Given the description of an element on the screen output the (x, y) to click on. 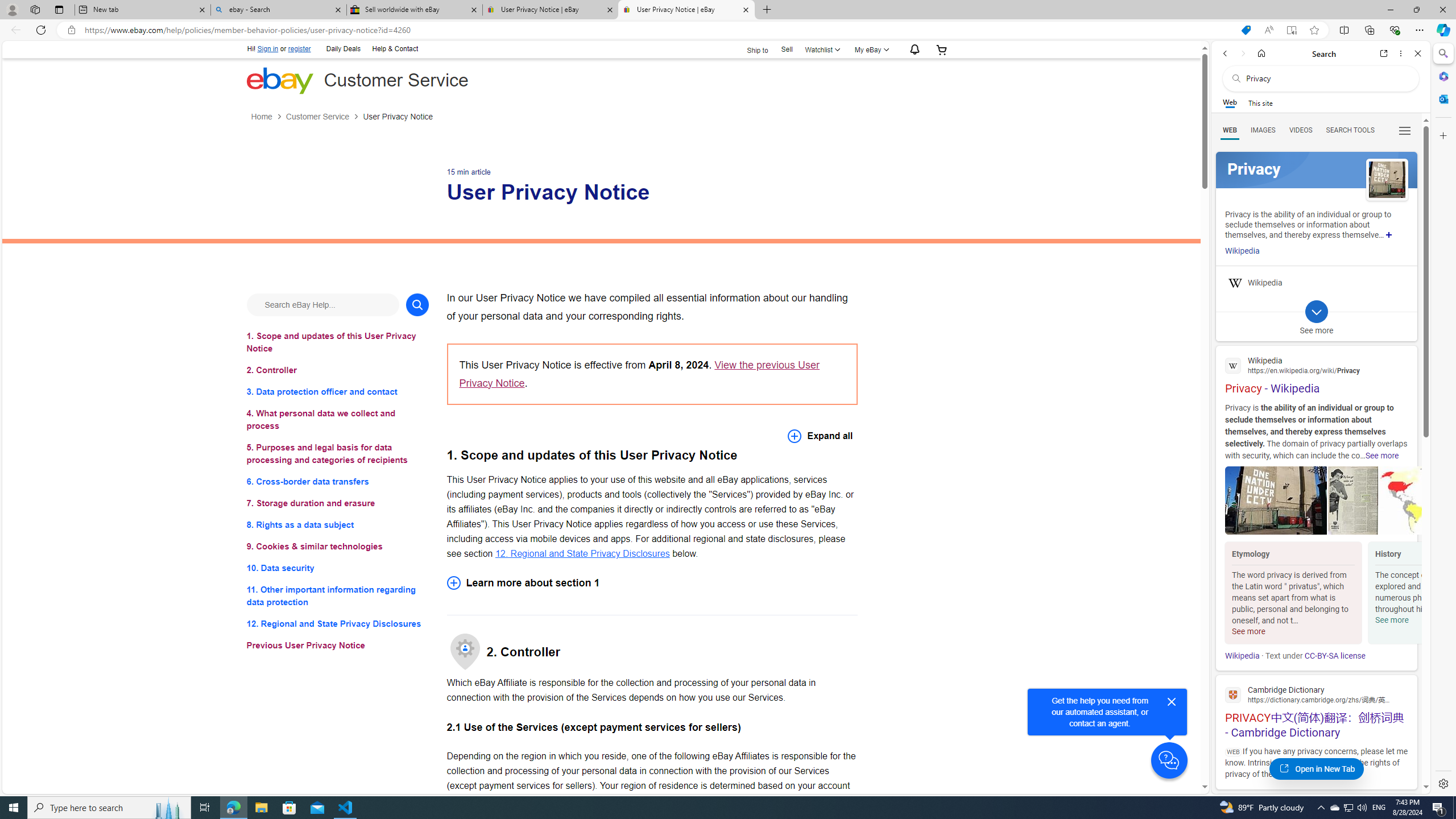
12. Regional and State Privacy Disclosures (337, 623)
Web scope (1230, 102)
Open link in new tab (1383, 53)
eBay Home (279, 80)
10. Data security (337, 567)
See more images of Privacy (1386, 180)
4. What personal data we collect and process (337, 419)
3. Data protection officer and contact (337, 391)
